Given the description of an element on the screen output the (x, y) to click on. 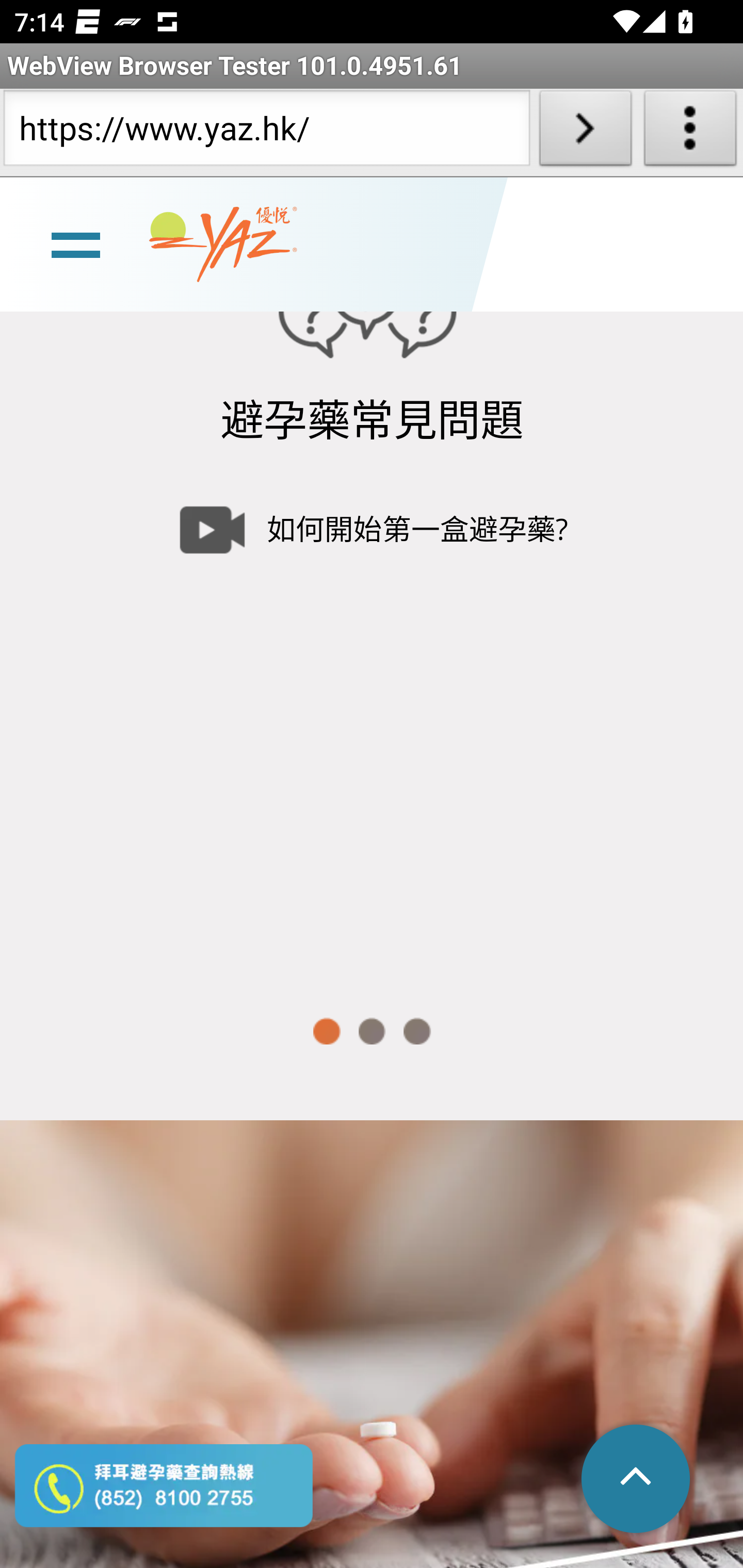
https://www.yaz.hk/ (266, 132)
Load URL (585, 132)
About WebView (690, 132)
www.yaz (222, 244)
line Toggle burger menu (75, 245)
slide 1 如何開始第一盒避孕藥? Video Player Video Player (371, 721)
1 of 3 (326, 1031)
2 of 3 (371, 1031)
3 of 3 (416, 1031)
 (636, 1480)
